Given the description of an element on the screen output the (x, y) to click on. 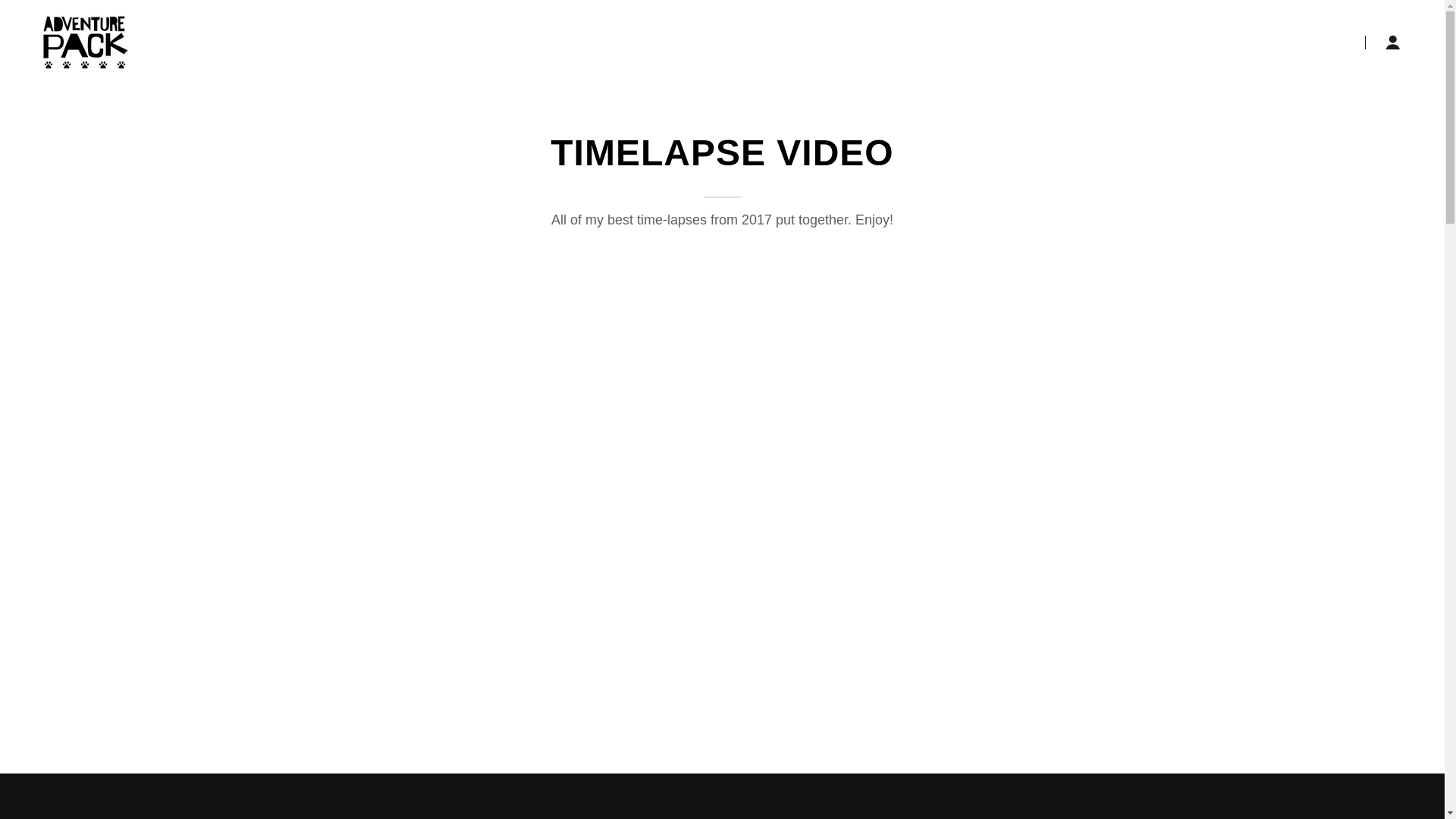
The Adventure Pack (85, 41)
